Given the description of an element on the screen output the (x, y) to click on. 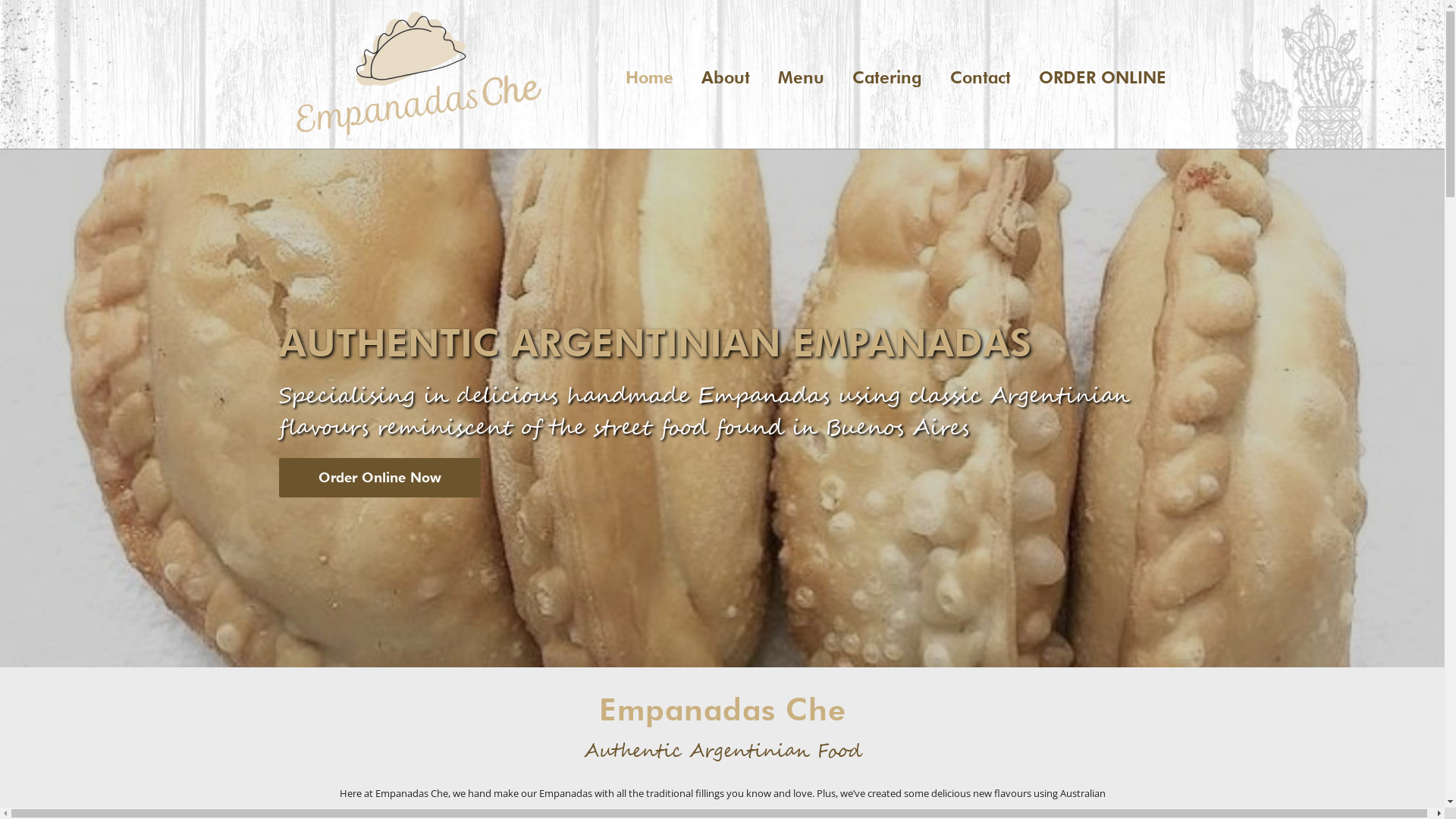
Order Online Now Element type: text (379, 477)
Menu Element type: text (801, 77)
Catering Element type: text (887, 77)
Home Element type: text (648, 77)
Contact Element type: text (979, 77)
ORDER ONLINE Element type: text (1102, 77)
About Element type: text (724, 77)
